Given the description of an element on the screen output the (x, y) to click on. 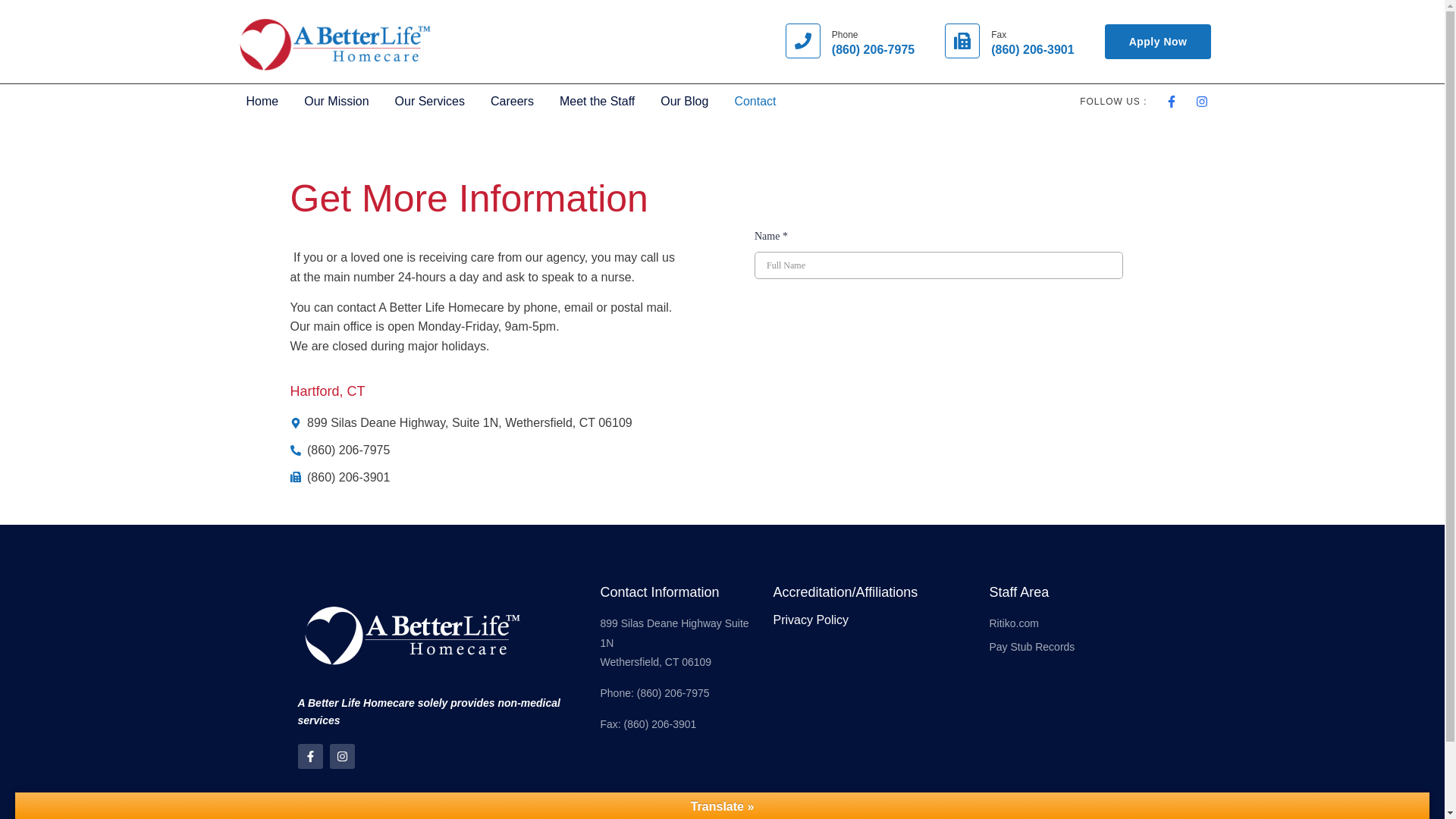
Ritiko.com (1067, 623)
Meet the Staff (597, 101)
Contact (754, 101)
Our Services (429, 101)
A Better Life Homecare Logo (333, 41)
Privacy Policy (810, 619)
Our Blog (683, 101)
Home (262, 101)
Contact Us Form (938, 236)
Apply Now (1158, 41)
Careers (512, 101)
Pay Stub Records (1067, 647)
Our Mission (336, 101)
